Given the description of an element on the screen output the (x, y) to click on. 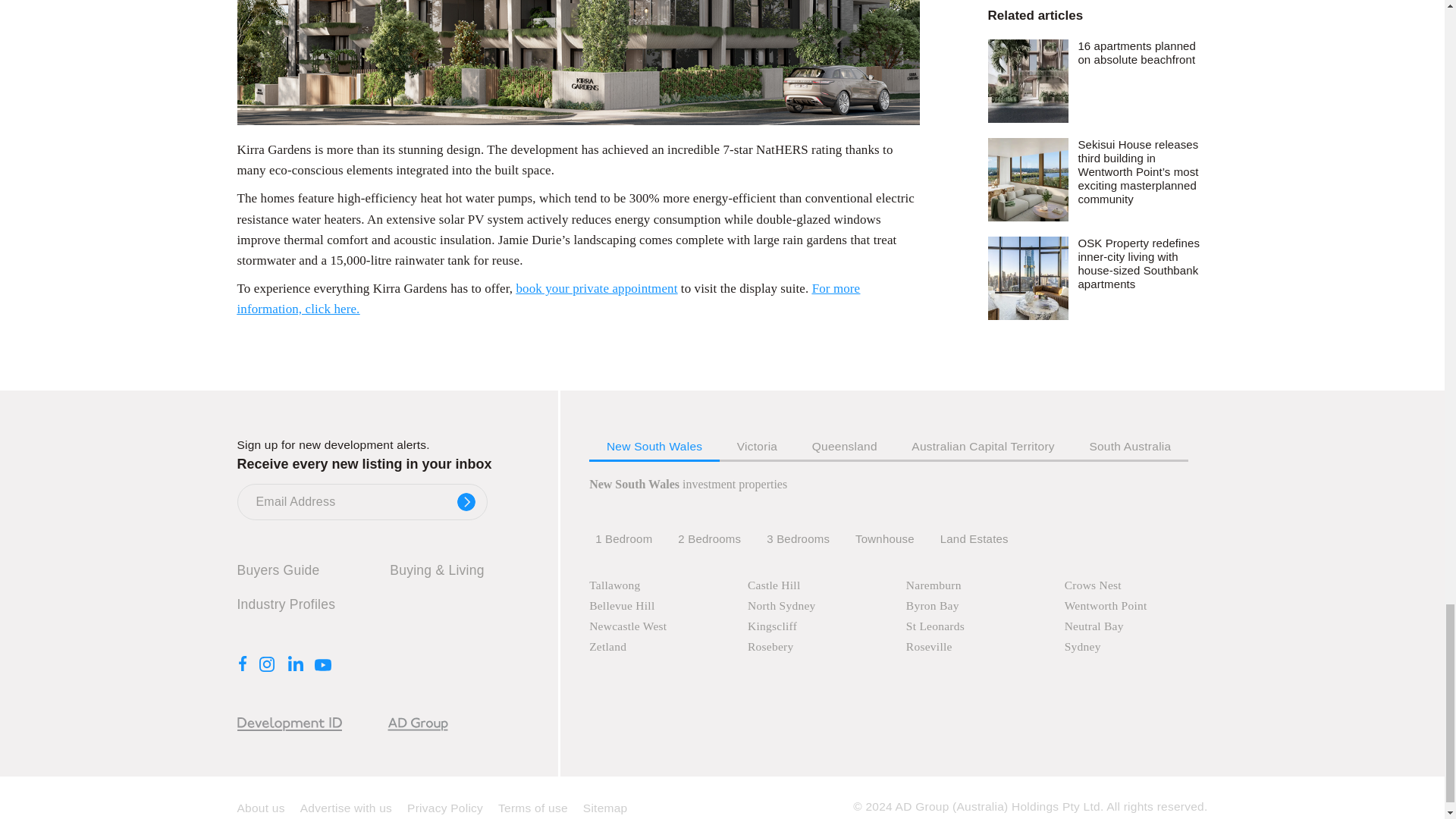
For more information, click here. (547, 298)
book your private appointment (596, 288)
